Given the description of an element on the screen output the (x, y) to click on. 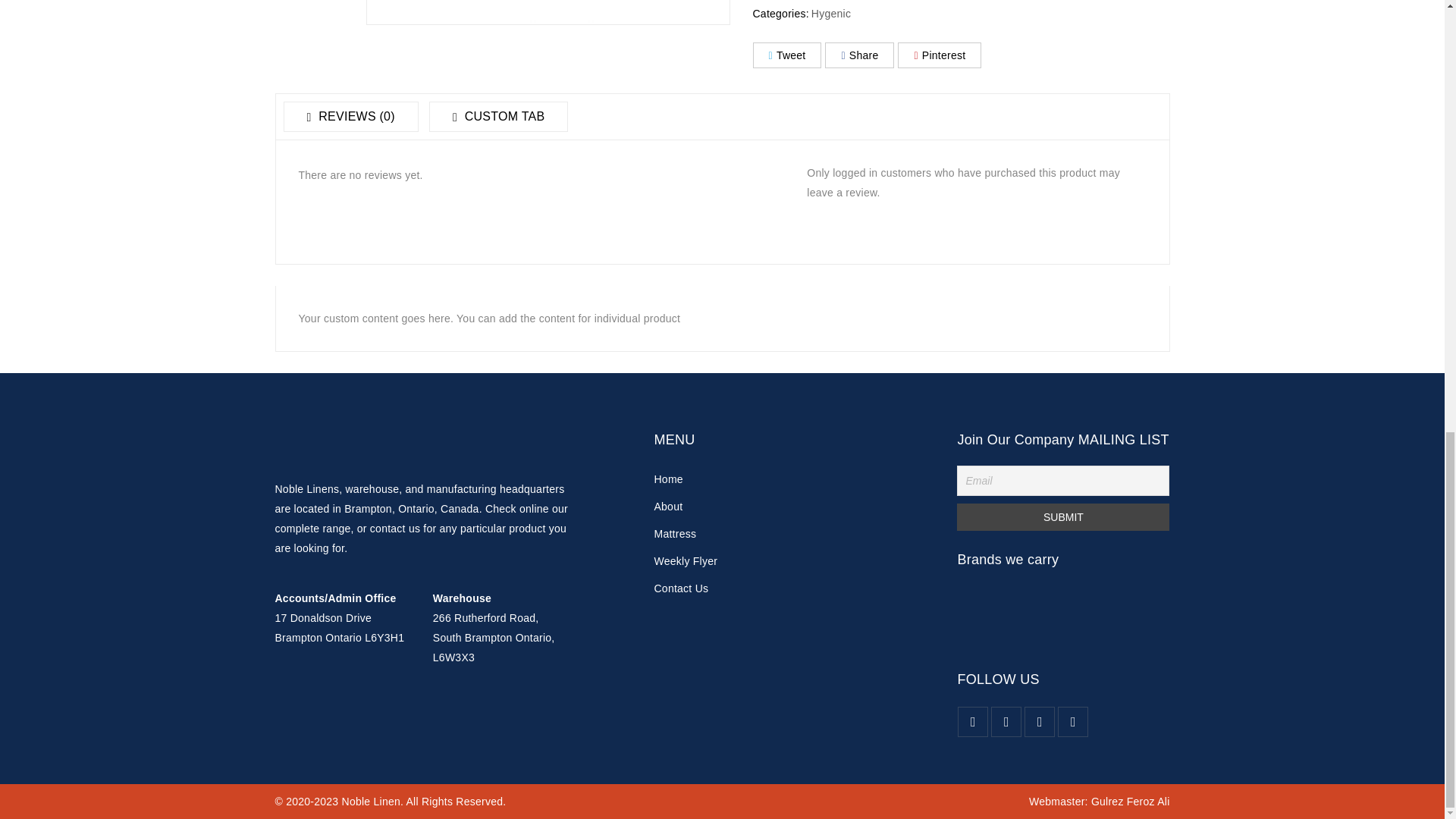
Submit (1062, 516)
About (667, 506)
Mattress (674, 533)
Home (667, 479)
Track Order (685, 561)
v17 (547, 12)
Contact Us (680, 588)
